Given the description of an element on the screen output the (x, y) to click on. 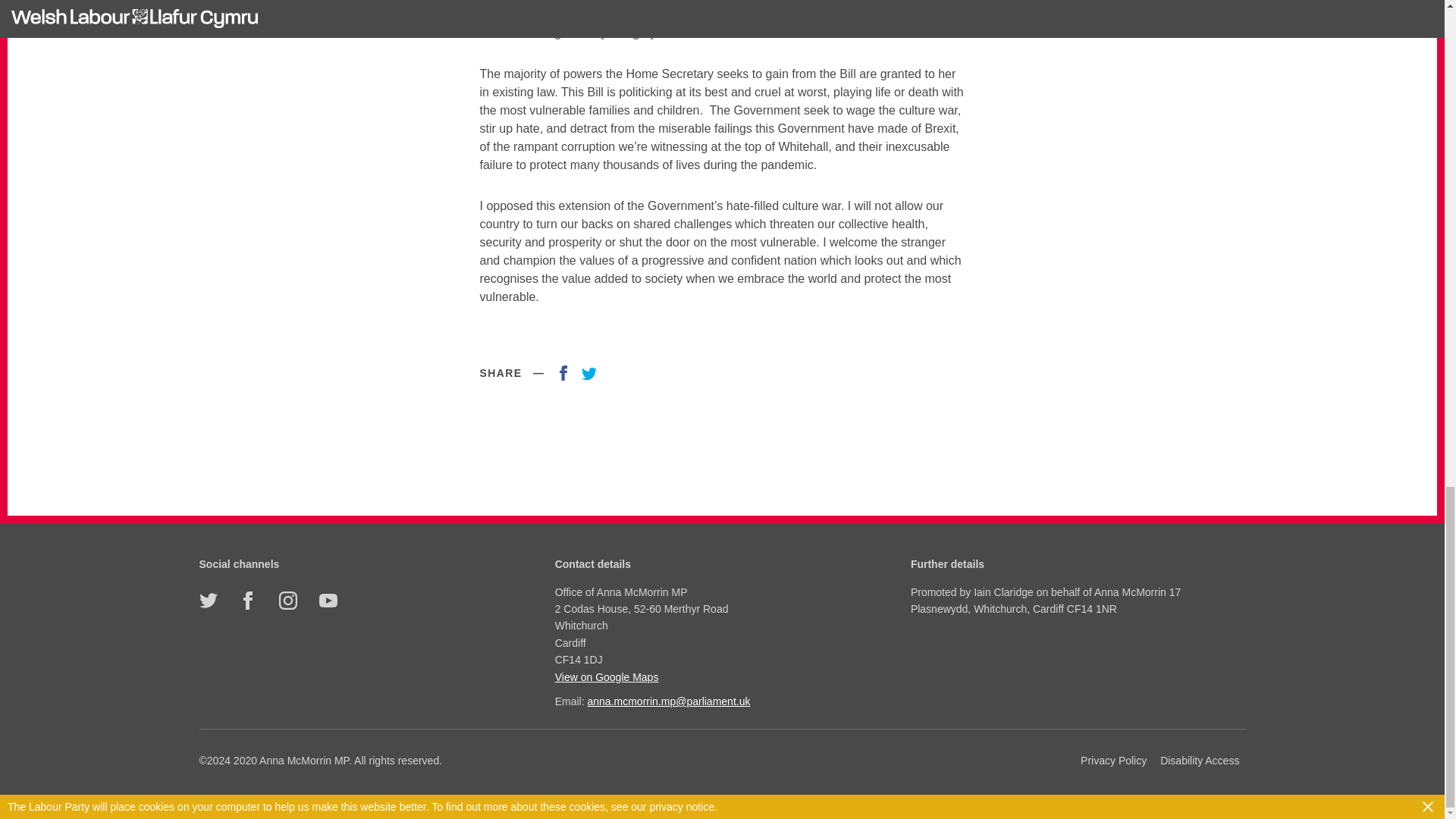
View on Google Maps (719, 676)
Disability Access (1199, 760)
Privacy Policy (1113, 760)
